Given the description of an element on the screen output the (x, y) to click on. 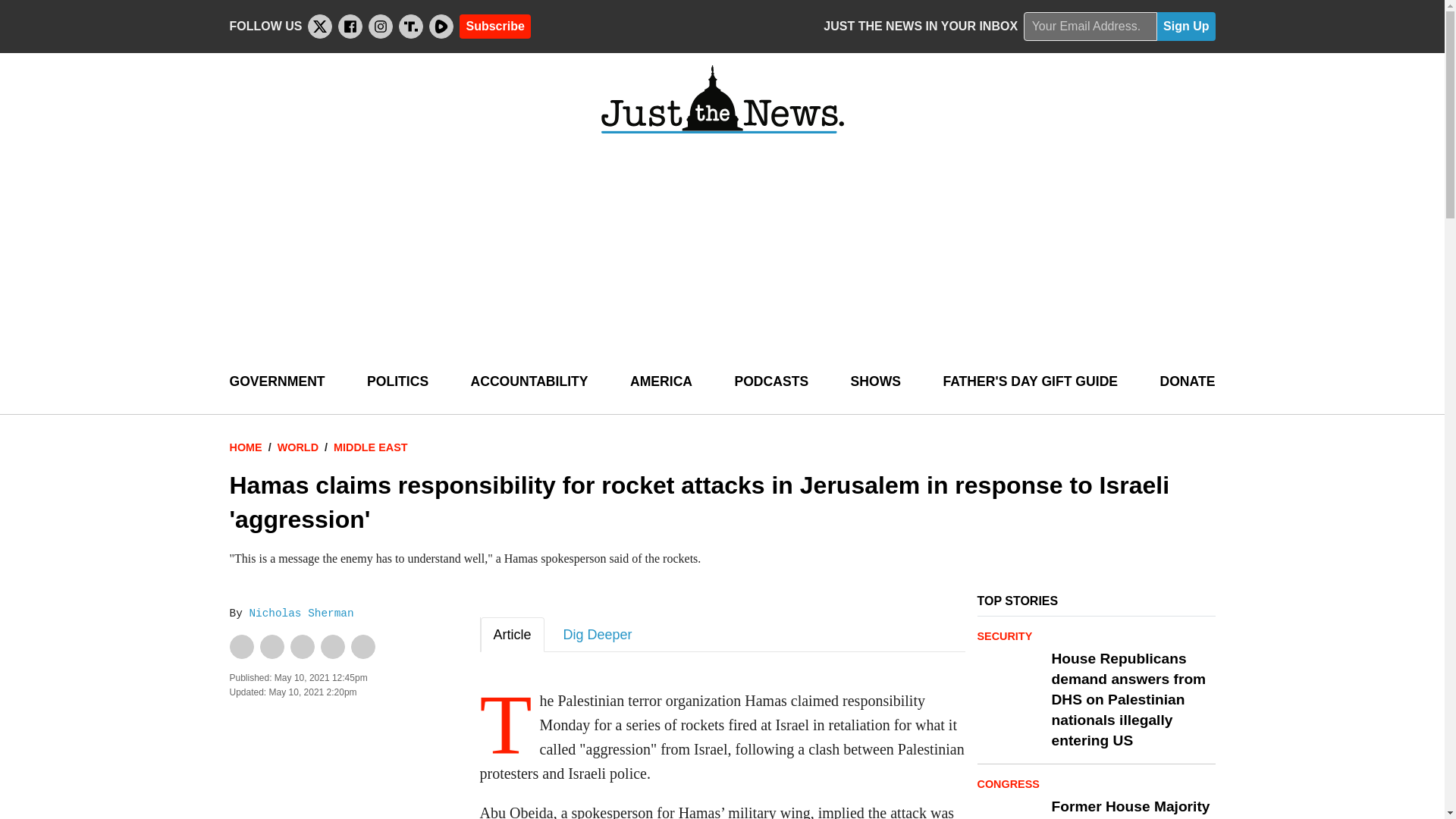
Sign Up (1185, 26)
FATHER'S DAY GIFT GUIDE (1030, 381)
GOVERNMENT (276, 381)
PODCASTS (770, 381)
SHOWS (875, 381)
POLITICS (397, 381)
Subscribe (494, 26)
AMERICA (661, 381)
